Given the description of an element on the screen output the (x, y) to click on. 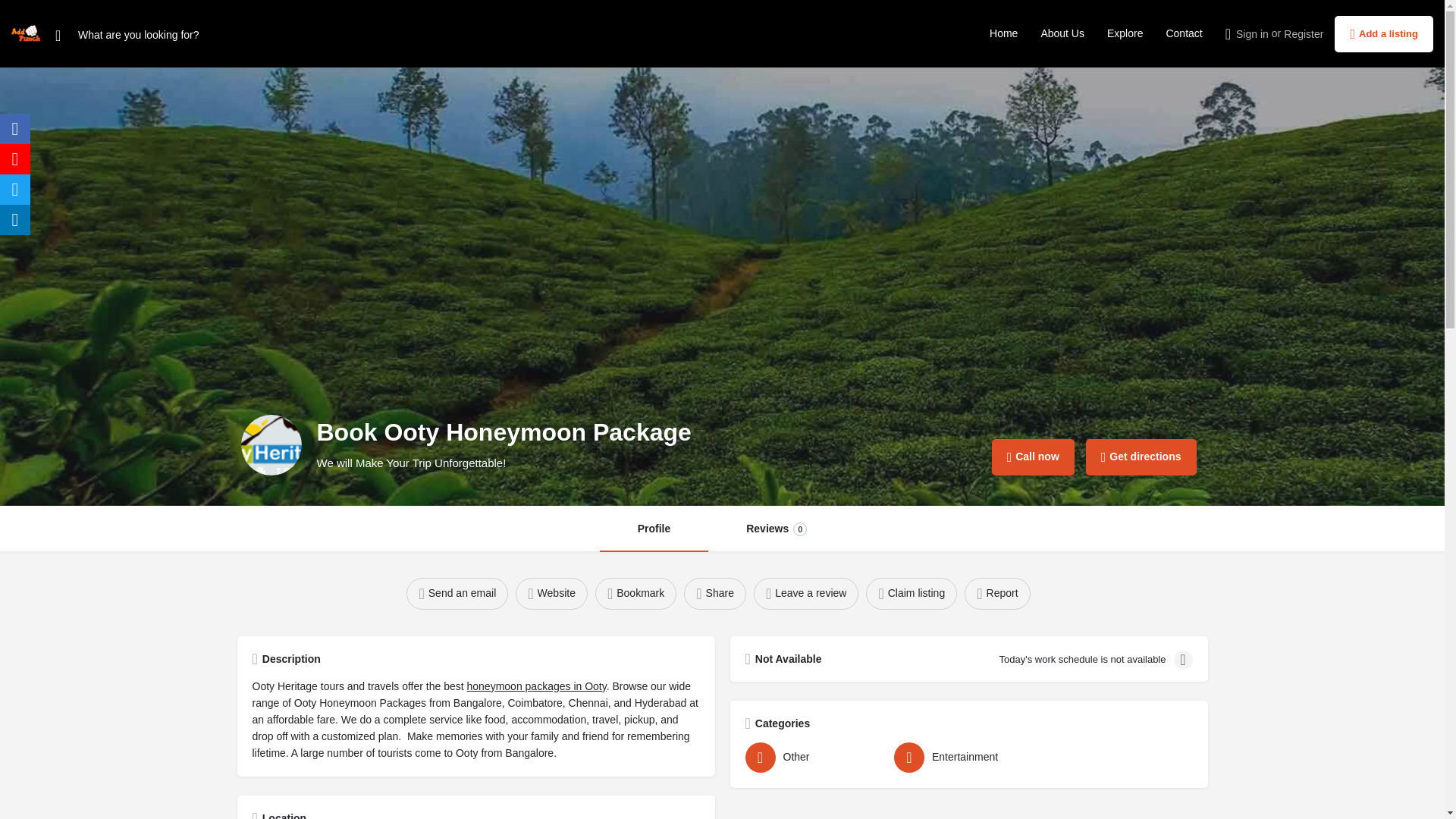
Share (714, 593)
Home (1003, 32)
honeymoon packages in Ooty (537, 686)
Leave a review (806, 593)
Register (1303, 33)
Report (775, 529)
Explore (996, 593)
Add a listing (1124, 32)
Call now (1383, 33)
Profile (1032, 456)
Get directions (654, 529)
Website (1141, 456)
Claim listing (551, 593)
Bookmark (911, 593)
